Given the description of an element on the screen output the (x, y) to click on. 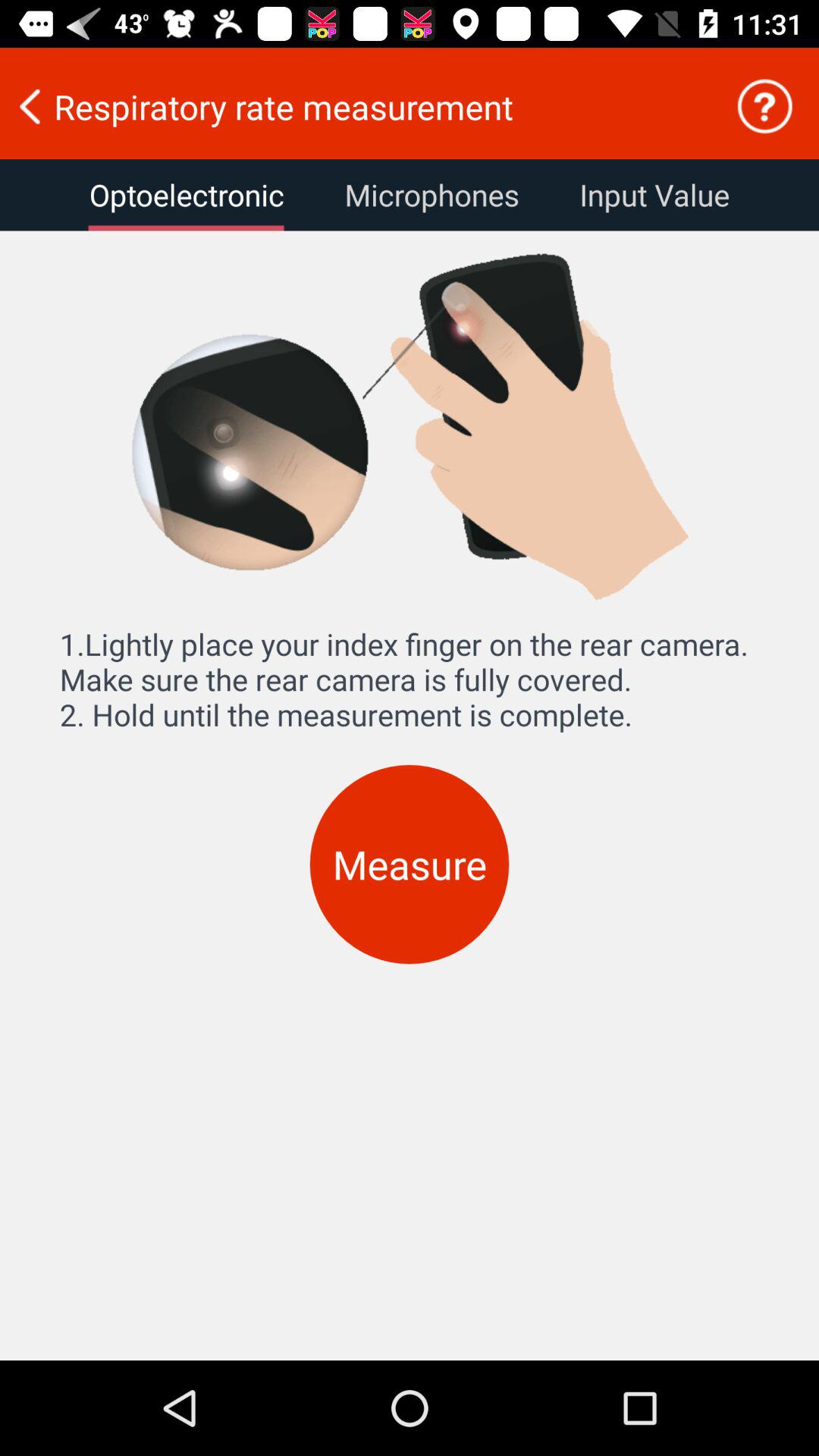
launch the item next to the microphones (654, 194)
